Given the description of an element on the screen output the (x, y) to click on. 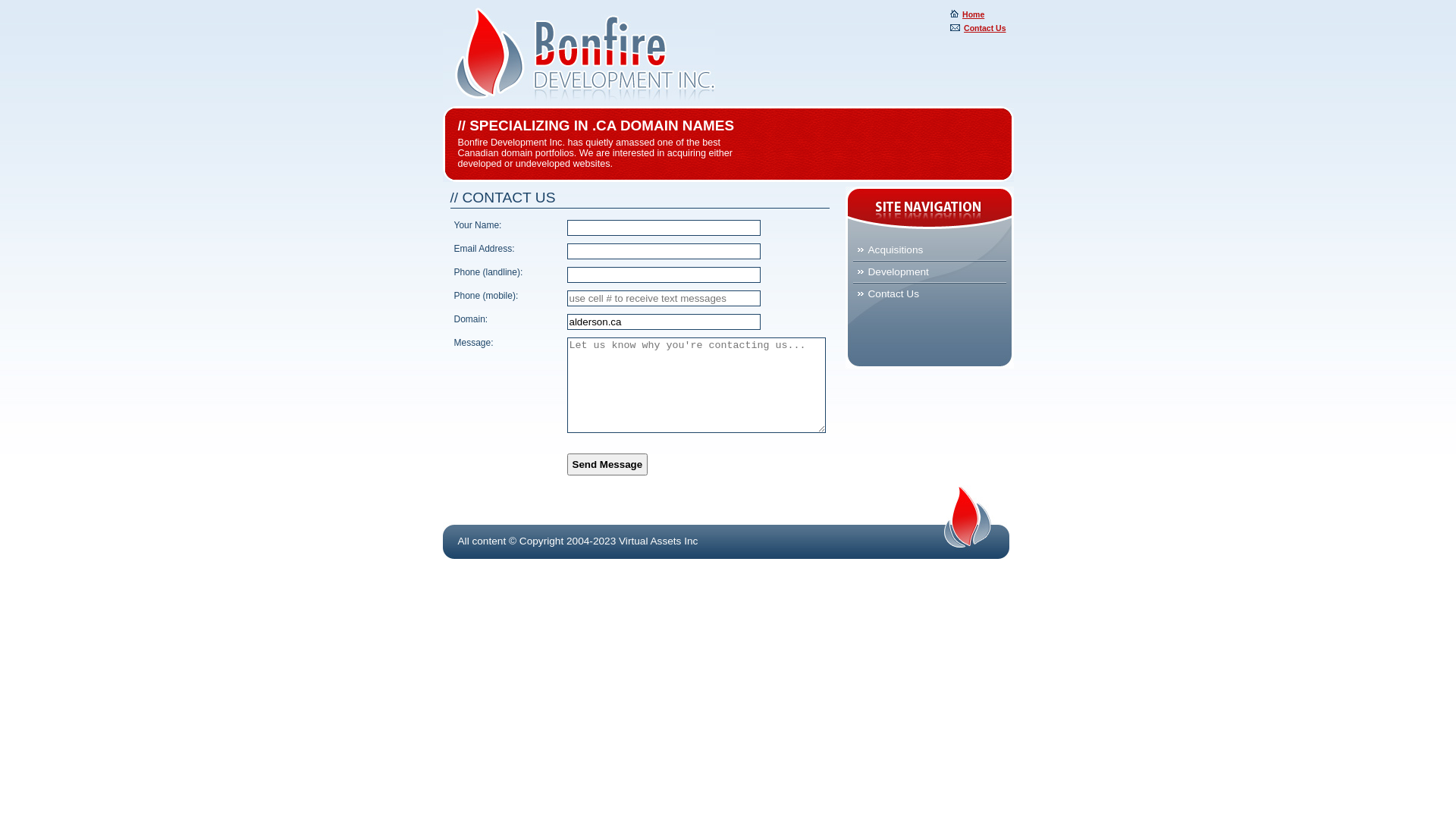
Home Element type: hover (578, 57)
Acquisitions Element type: text (934, 249)
Development Element type: text (934, 271)
Contact Us Element type: text (977, 27)
Home Element type: text (967, 13)
Contact Us Element type: text (934, 293)
Send Message Element type: text (607, 464)
